Given the description of an element on the screen output the (x, y) to click on. 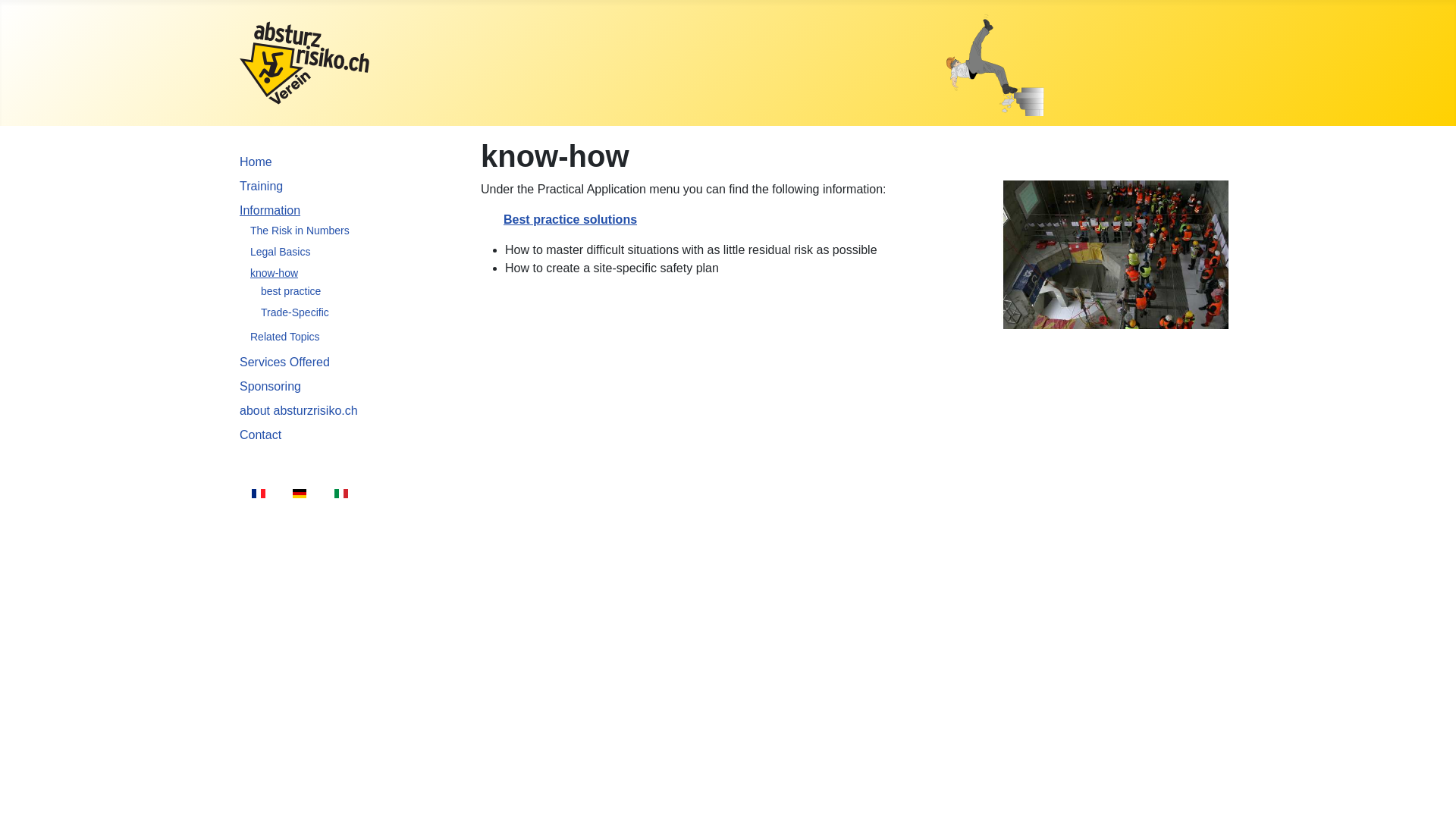
de Element type: hover (299, 493)
Contact Element type: text (260, 434)
Home Element type: text (255, 161)
best practice Element type: text (290, 291)
know-how Element type: text (274, 272)
Related Topics Element type: text (285, 336)
Sponsoring Element type: text (270, 385)
The Risk in Numbers Element type: text (299, 230)
it Element type: hover (341, 493)
Best practice solutions Element type: text (570, 219)
Information Element type: text (269, 209)
about absturzrisiko.ch Element type: text (298, 410)
Training Element type: text (260, 185)
fr Element type: hover (258, 493)
Trade-Specific Element type: text (294, 312)
Legal Basics Element type: text (280, 251)
Services Offered Element type: text (284, 361)
